Given the description of an element on the screen output the (x, y) to click on. 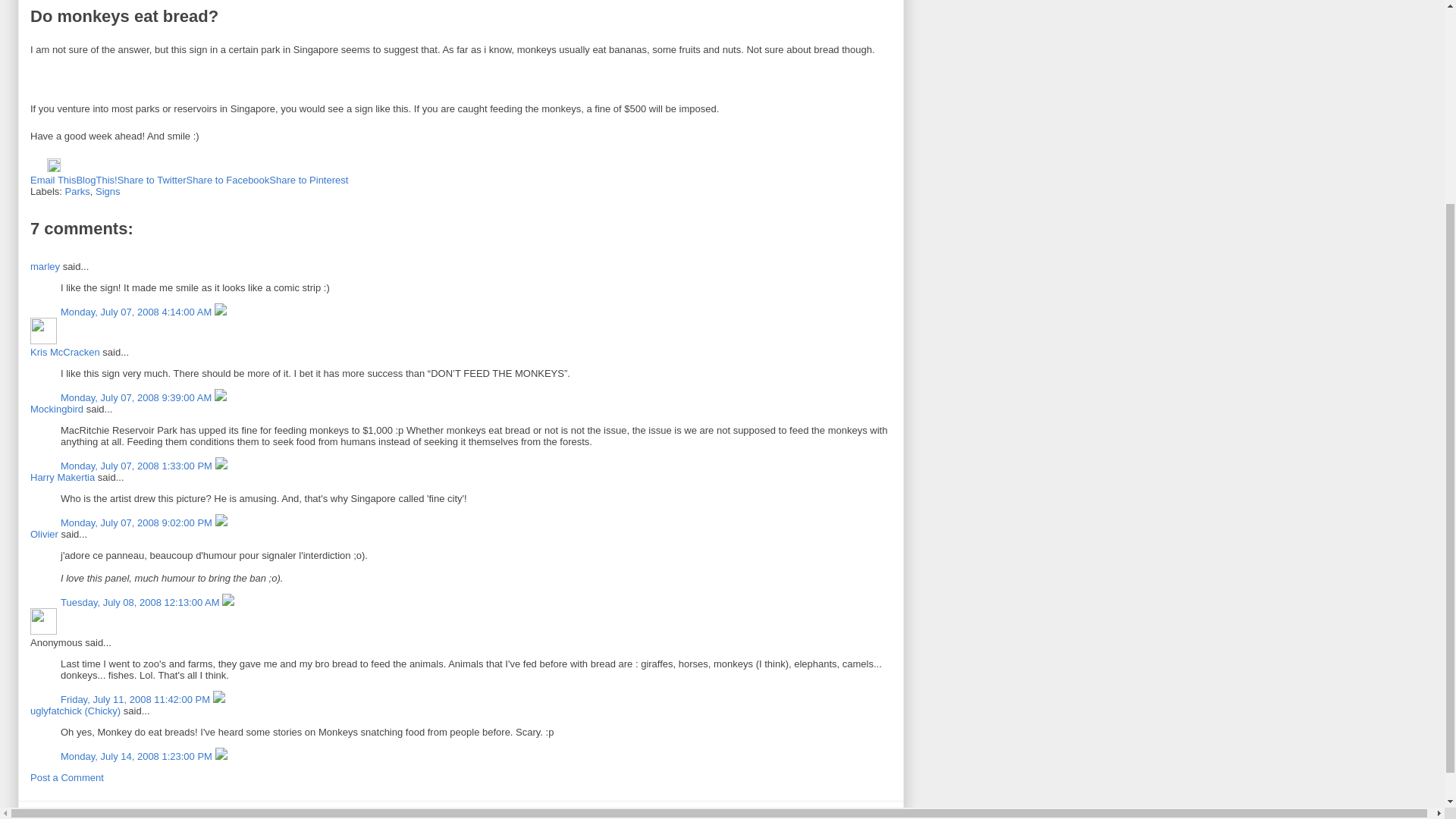
BlogThis! (95, 179)
Mockingbird (56, 408)
comment permalink (137, 397)
Share to Twitter (151, 179)
Email This (52, 179)
Delete Comment (220, 397)
Share to Facebook (227, 179)
Harry Makertia (62, 477)
Share to Pinterest (308, 179)
Delete Comment (220, 311)
Share to Pinterest (308, 179)
Parks (77, 191)
comment permalink (137, 311)
Share to Facebook (227, 179)
Tuesday, July 08, 2008 12:13:00 AM (141, 602)
